Given the description of an element on the screen output the (x, y) to click on. 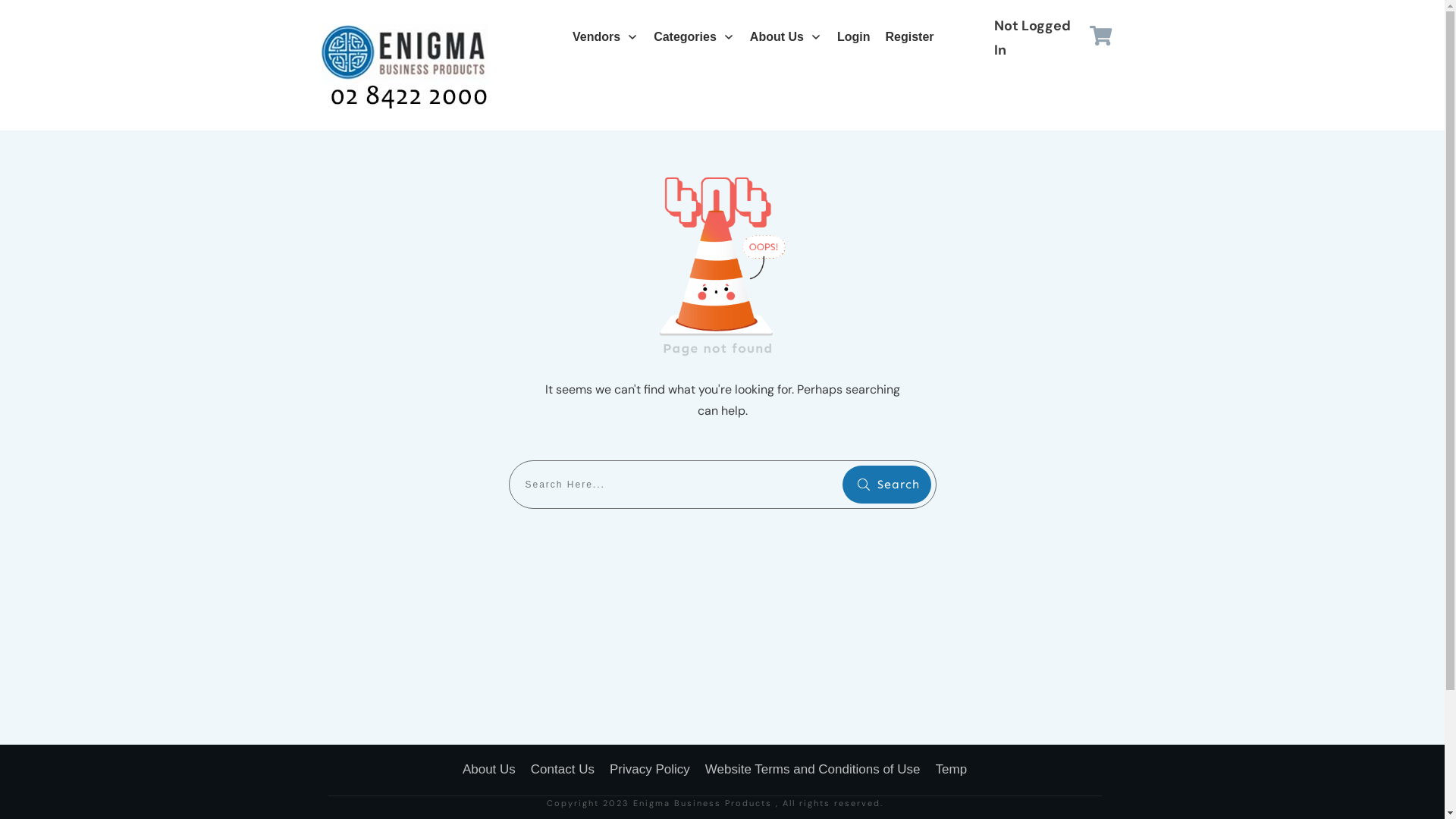
Register Element type: text (909, 37)
Temp Element type: text (951, 769)
Website Terms and Conditions of Use Element type: text (812, 769)
About Us Element type: text (488, 769)
Vendors Element type: text (605, 37)
Login Element type: text (853, 37)
Search Element type: text (885, 484)
enigmabplogotel Element type: hover (408, 68)
Privacy Policy Element type: text (649, 769)
404 img alpha-8 (1) Element type: hover (722, 261)
About Us Element type: text (785, 37)
Categories Element type: text (693, 37)
Contact Us Element type: text (562, 769)
